Given the description of an element on the screen output the (x, y) to click on. 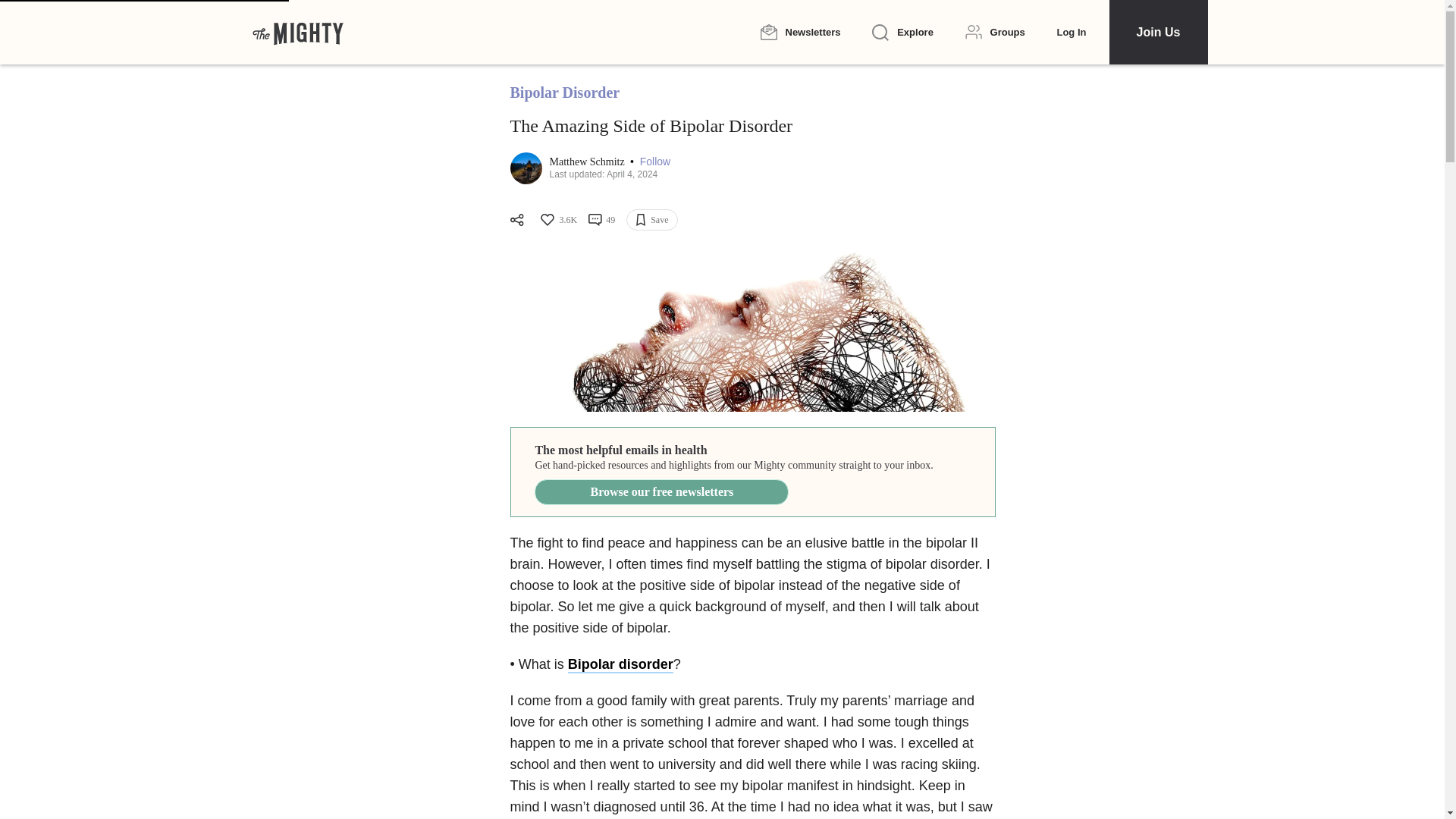
Bipolar disorder (619, 664)
49 (601, 219)
The Amazing Side of Bipolar Disorder (751, 330)
3.6K (557, 219)
Bipolar Disorder (564, 92)
Follow (654, 161)
Groups (995, 32)
Explore (902, 32)
Save (651, 219)
Browse our free newsletters (661, 492)
